Given the description of an element on the screen output the (x, y) to click on. 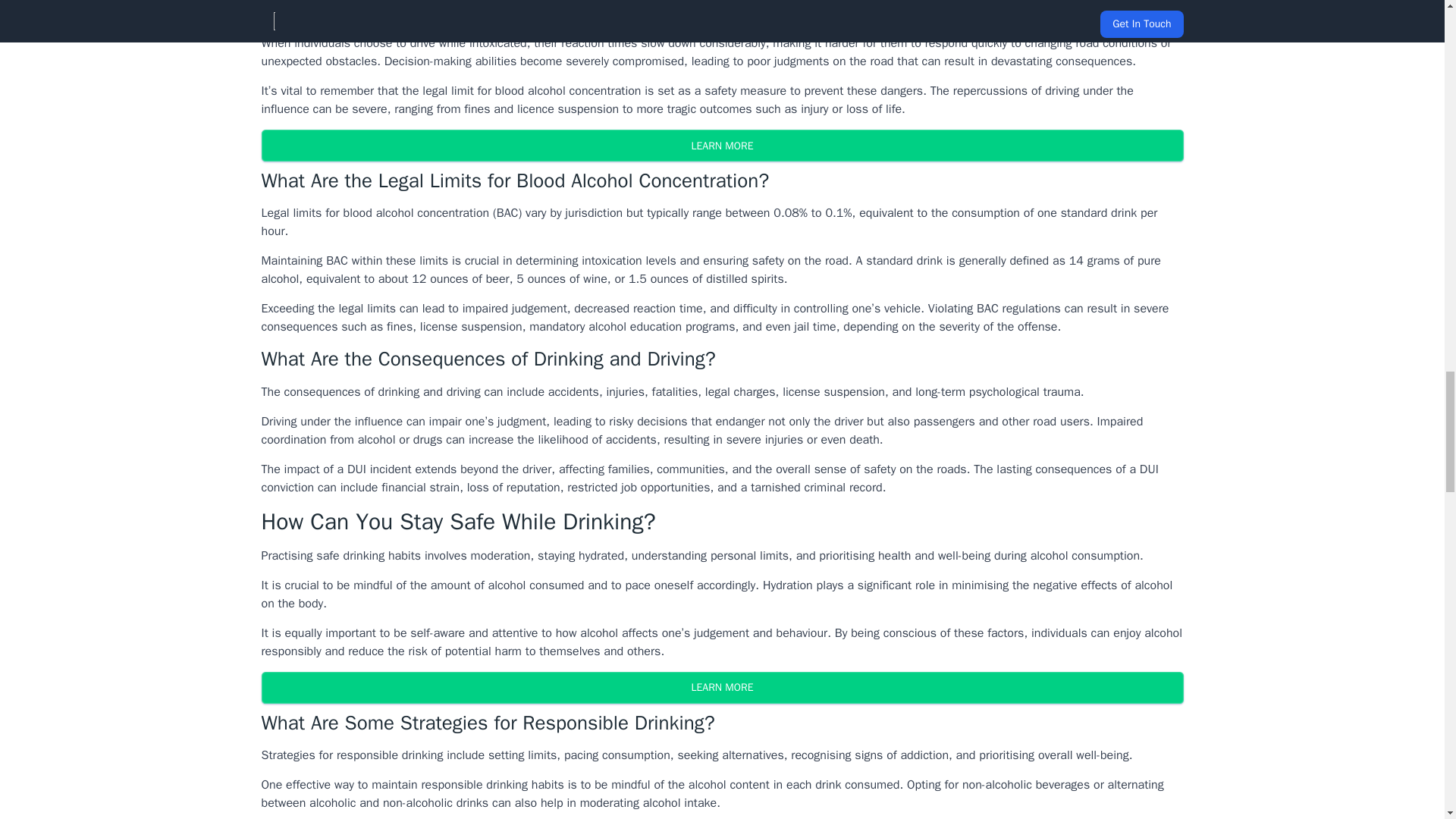
LEARN MORE (721, 145)
LEARN MORE (721, 687)
